Given the description of an element on the screen output the (x, y) to click on. 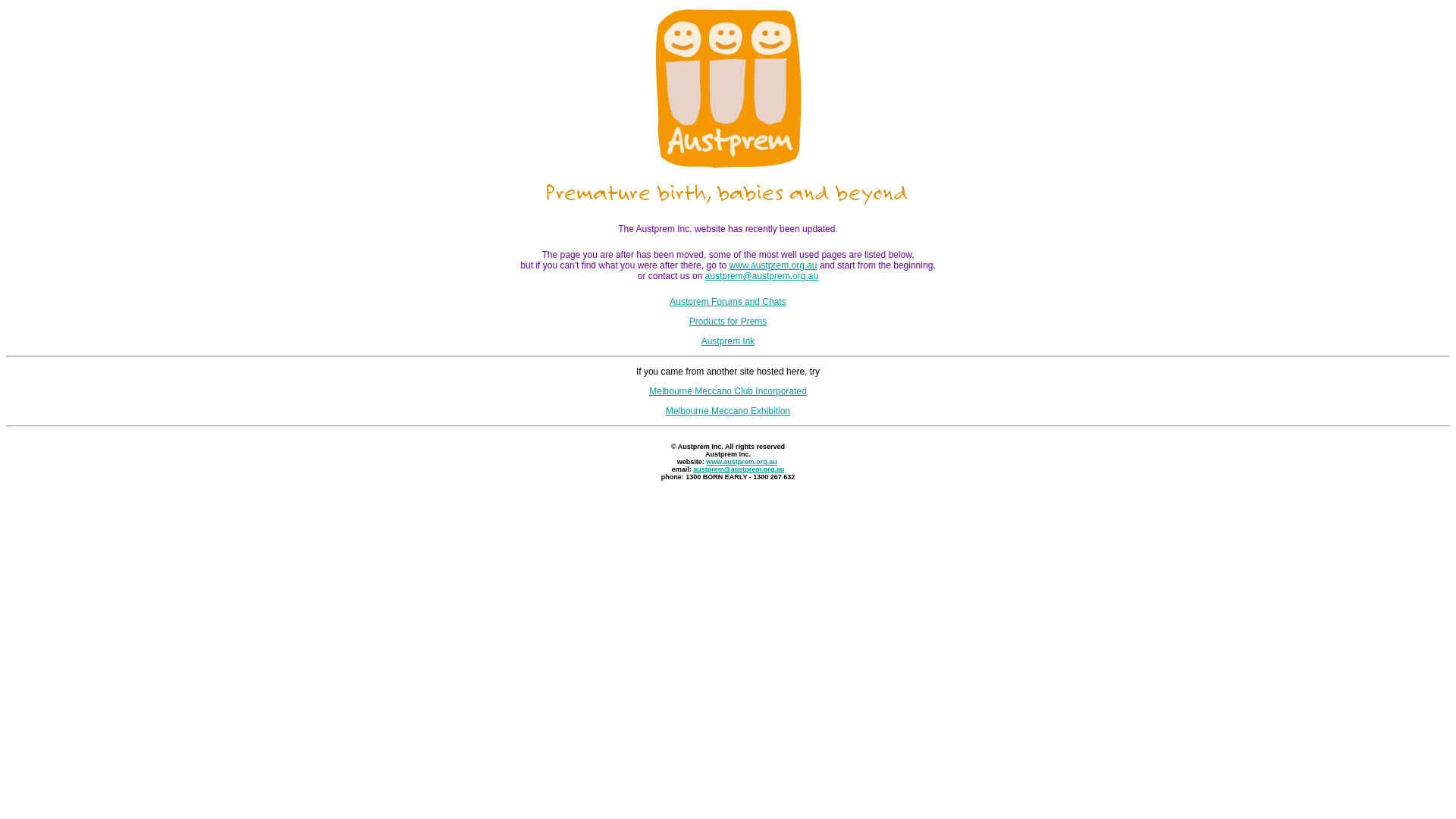
Melbourne Meccano Club Incorporated Element type: text (727, 390)
Products for Prems Element type: text (728, 321)
Austprem Ink Element type: text (728, 340)
austprem@austprem.org.au Element type: text (738, 469)
Austprem Forums and Chats Element type: text (727, 301)
Melbourne Meccano Exhibition Element type: text (727, 410)
www.austprem.org.au Element type: text (741, 461)
www.austprem.org.au Element type: text (772, 265)
austprem@austprem.org.au Element type: text (762, 275)
